Given the description of an element on the screen output the (x, y) to click on. 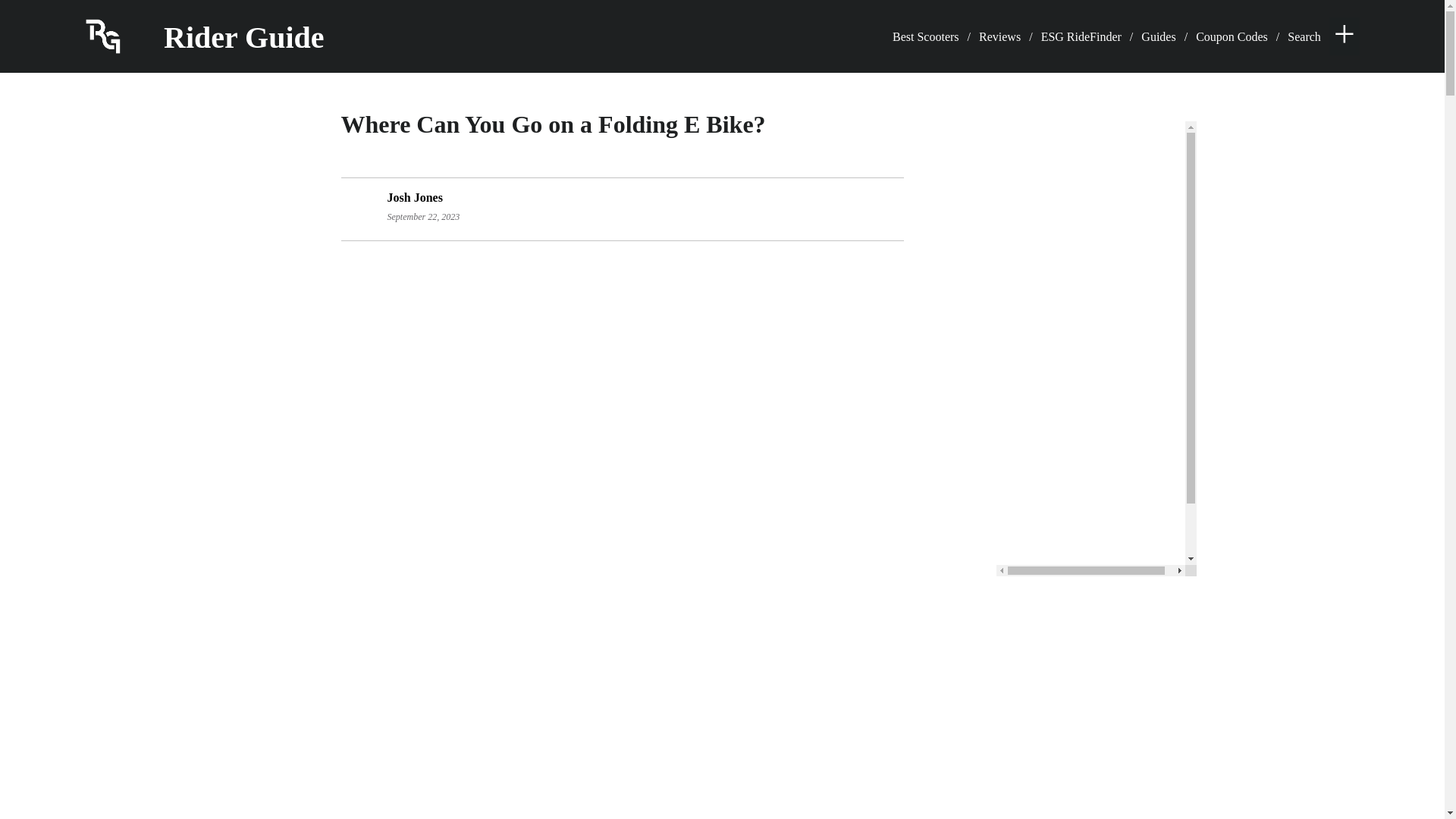
Best Scooters (925, 36)
Guides (1157, 36)
Reviews (999, 36)
Coupon Codes (1231, 36)
Rider Guide (222, 28)
ESG RideFinder (1081, 36)
